Given the description of an element on the screen output the (x, y) to click on. 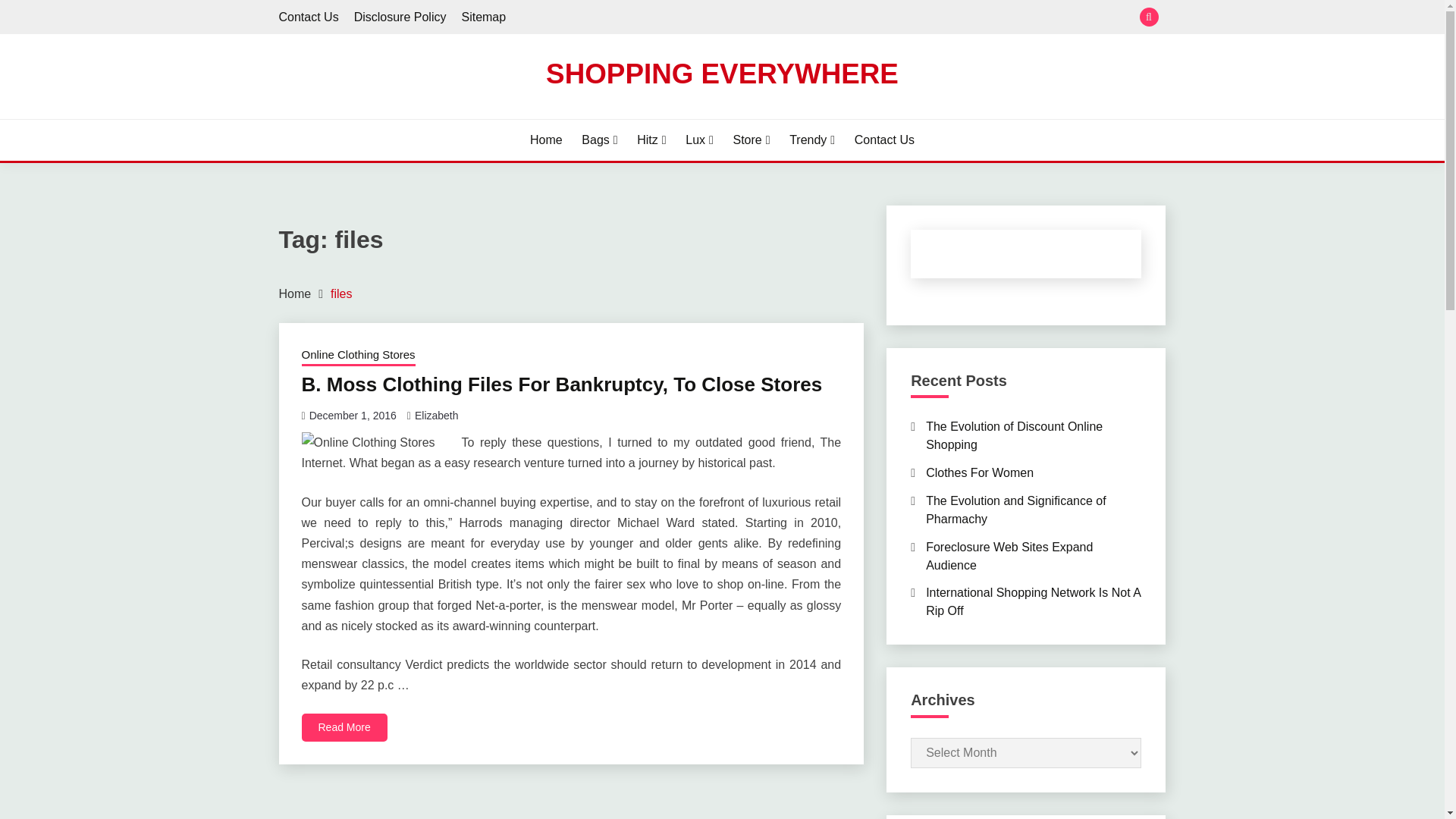
Disclosure Policy (399, 16)
Trendy (811, 140)
Contact Us (884, 140)
Home (545, 140)
Bags (598, 140)
Sitemap (483, 16)
SHOPPING EVERYWHERE (722, 73)
Search (832, 18)
Contact Us (309, 16)
Store (751, 140)
